Given the description of an element on the screen output the (x, y) to click on. 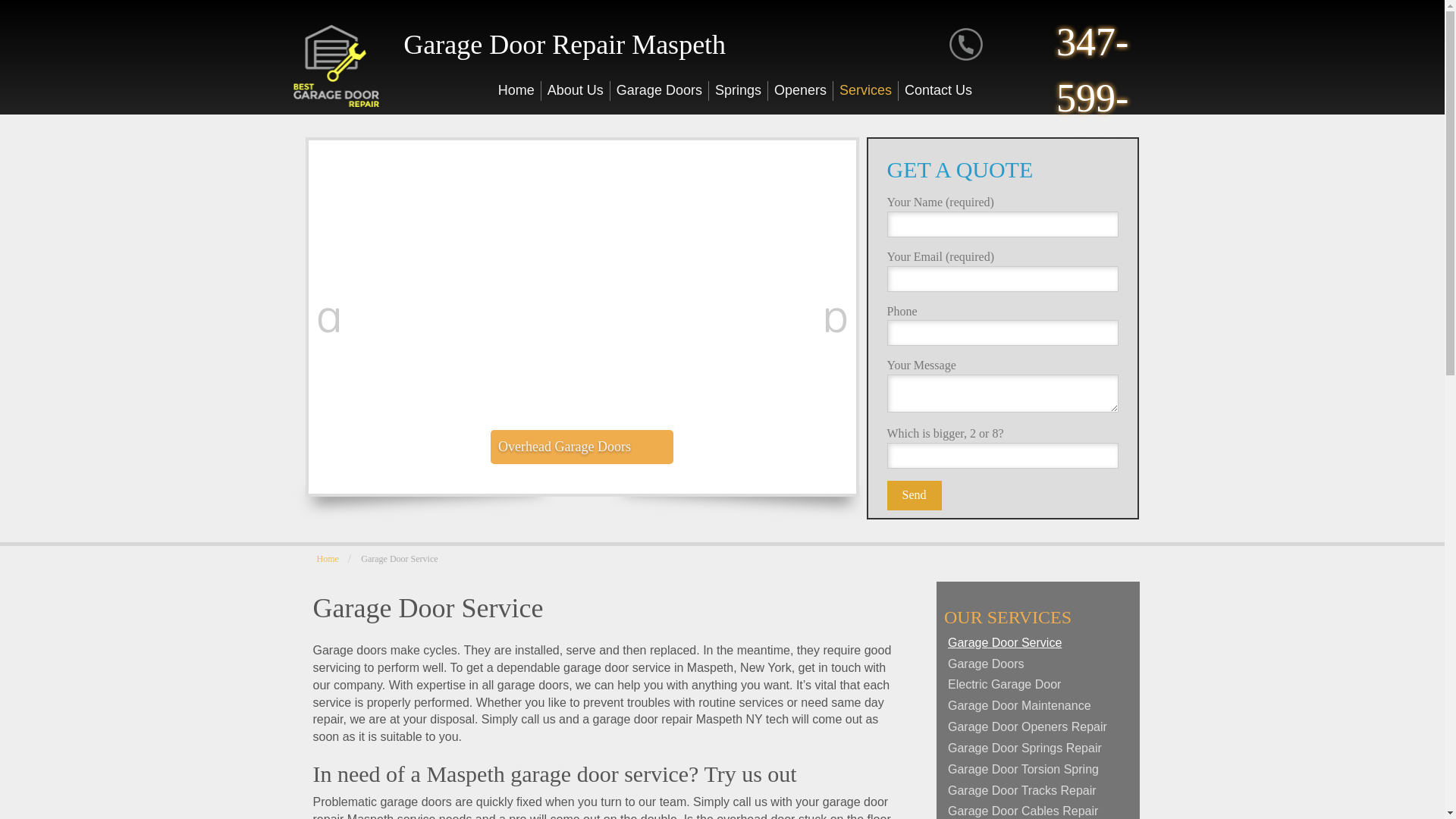
Home (516, 90)
Springs (738, 90)
Openers (800, 90)
Send (914, 495)
Garage Doors (659, 90)
About Us (575, 90)
Contact Us (938, 90)
Services (865, 90)
